Given the description of an element on the screen output the (x, y) to click on. 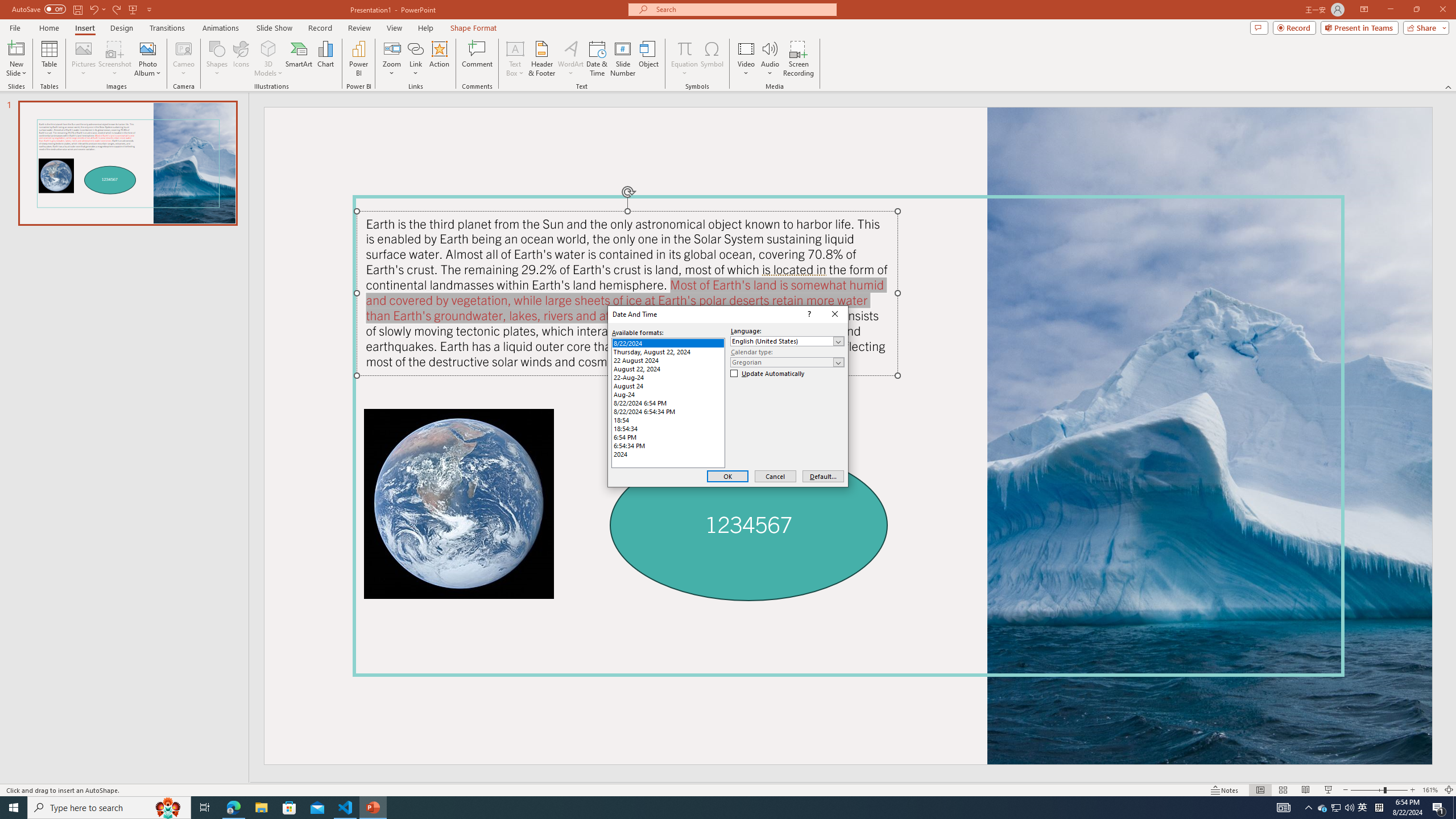
Aug-24 (667, 393)
WordArt (570, 58)
2024 (667, 453)
August 24 (667, 385)
Power BI (358, 58)
Symbol... (711, 58)
Thursday, August 22, 2024 (667, 351)
